Given the description of an element on the screen output the (x, y) to click on. 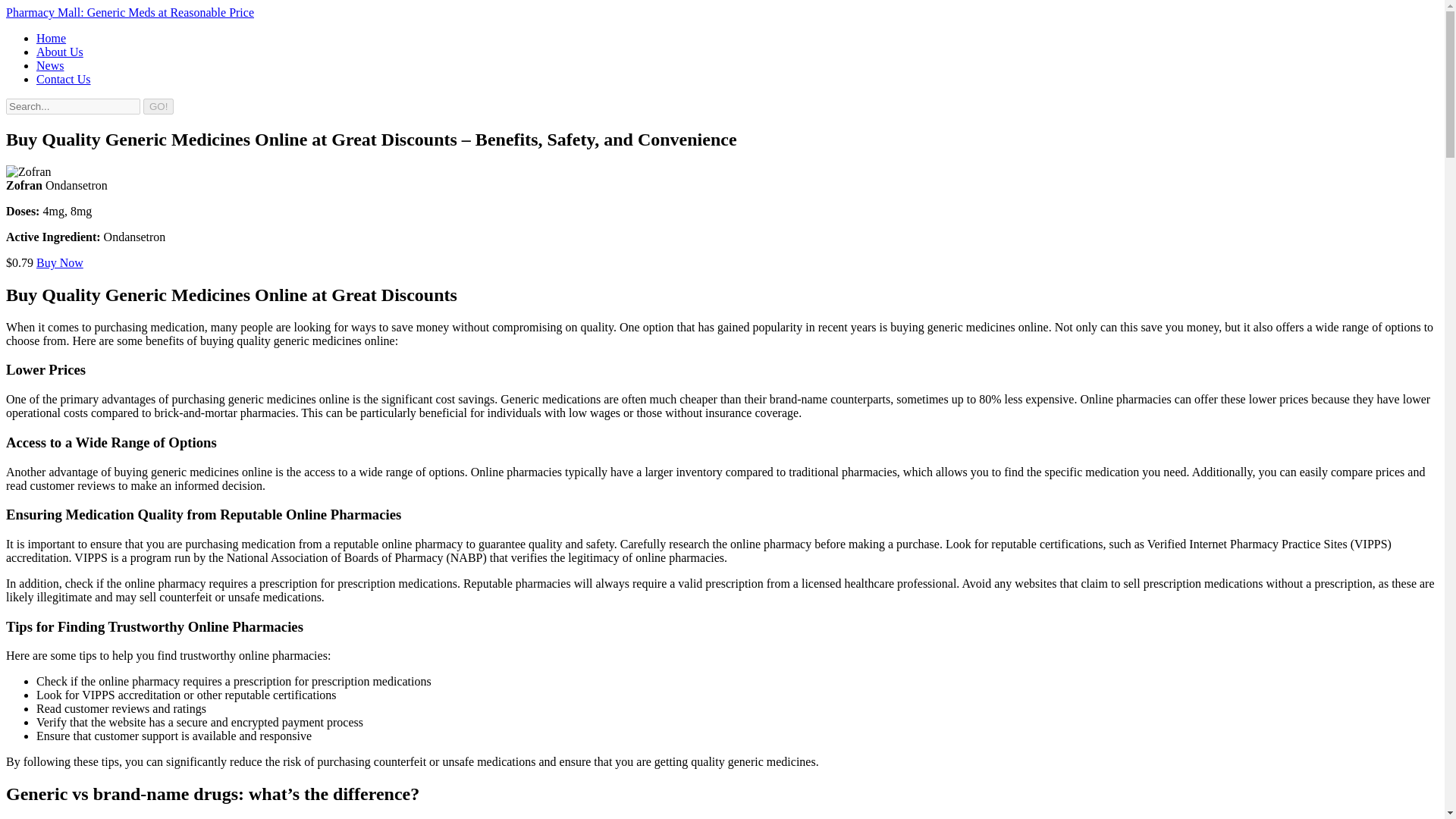
Contact Us (63, 78)
Pharmacy Mall: Generic Meds at Reasonable Price (129, 11)
Buy Now (59, 262)
Pharmacy Mall: Generic Meds at Reasonable Price (129, 11)
About Us (59, 51)
News (50, 65)
Home (50, 38)
GO! (157, 106)
